Given the description of an element on the screen output the (x, y) to click on. 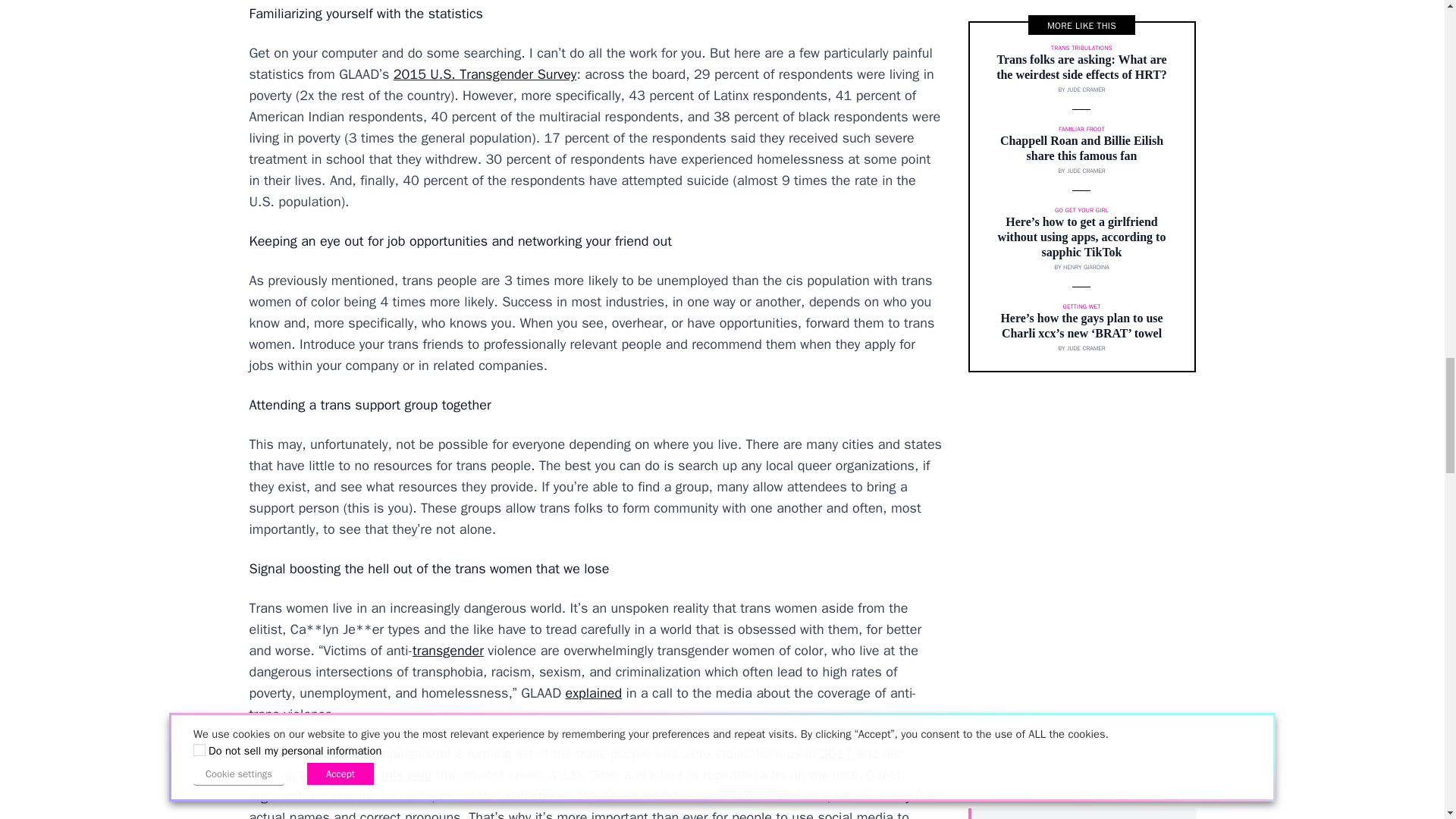
transgender (447, 650)
this year (405, 774)
explained (592, 692)
2017 (835, 753)
2015 U.S. Transgender Survey (484, 74)
